Given the description of an element on the screen output the (x, y) to click on. 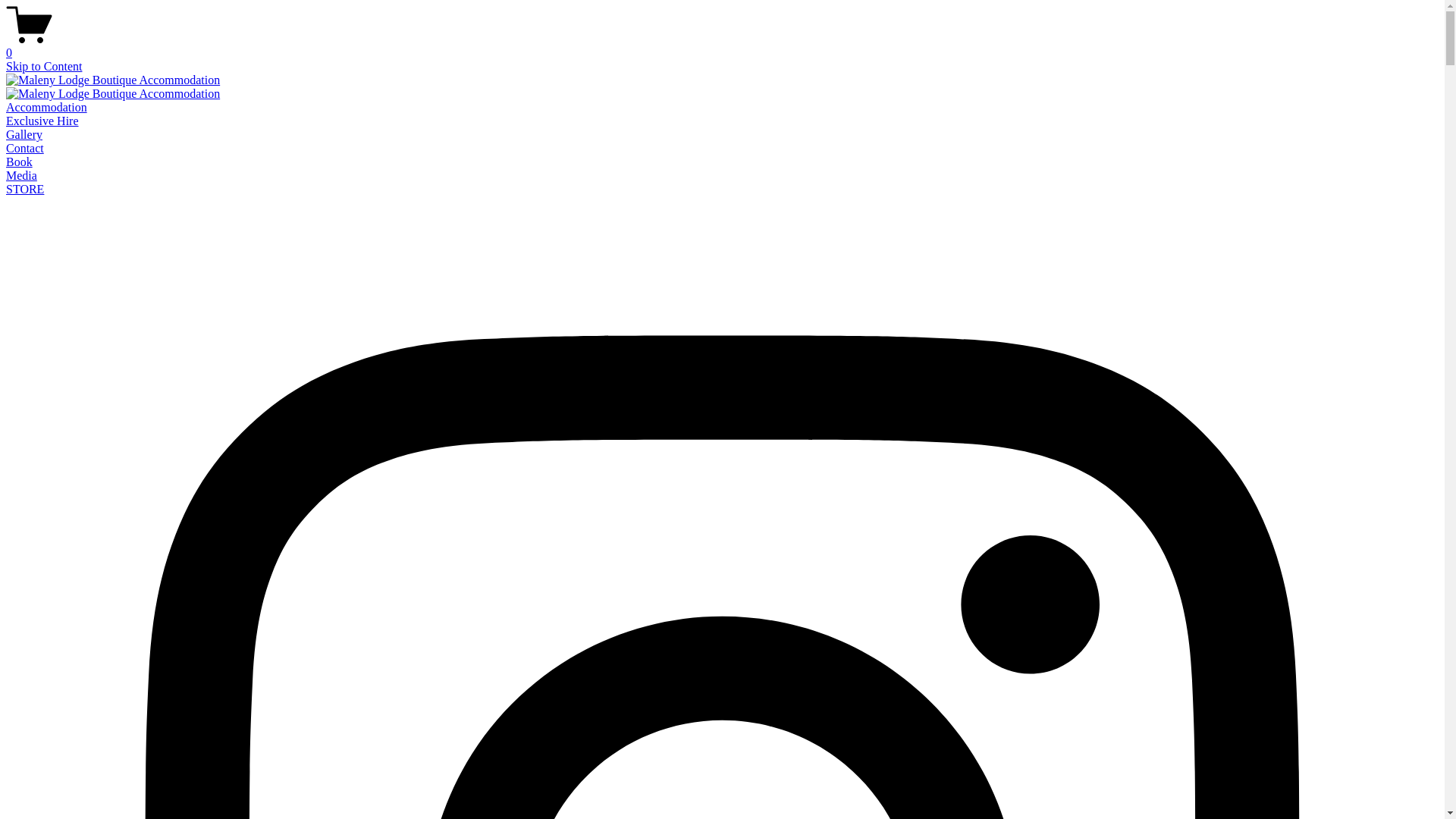
Gallery Element type: text (24, 134)
Media Element type: text (21, 175)
Contact Element type: text (24, 147)
Accommodation Element type: text (46, 106)
Skip to Content Element type: text (43, 65)
0 Element type: text (722, 45)
STORE Element type: text (24, 188)
Exclusive Hire Element type: text (42, 120)
Book Element type: text (19, 161)
